Given the description of an element on the screen output the (x, y) to click on. 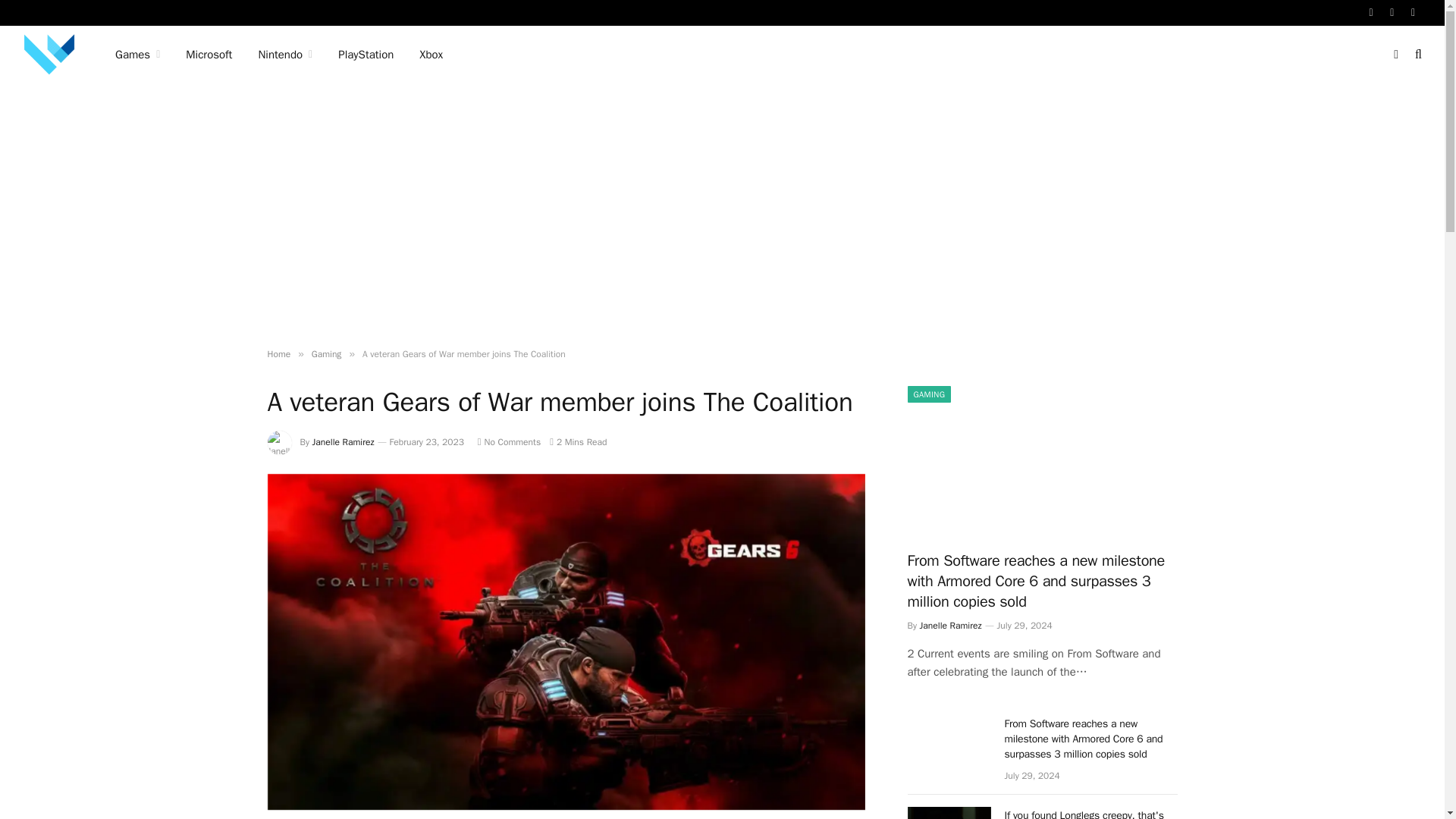
Weebview (49, 54)
Games (137, 54)
Facebook (1371, 12)
Instagram (1413, 12)
